Given the description of an element on the screen output the (x, y) to click on. 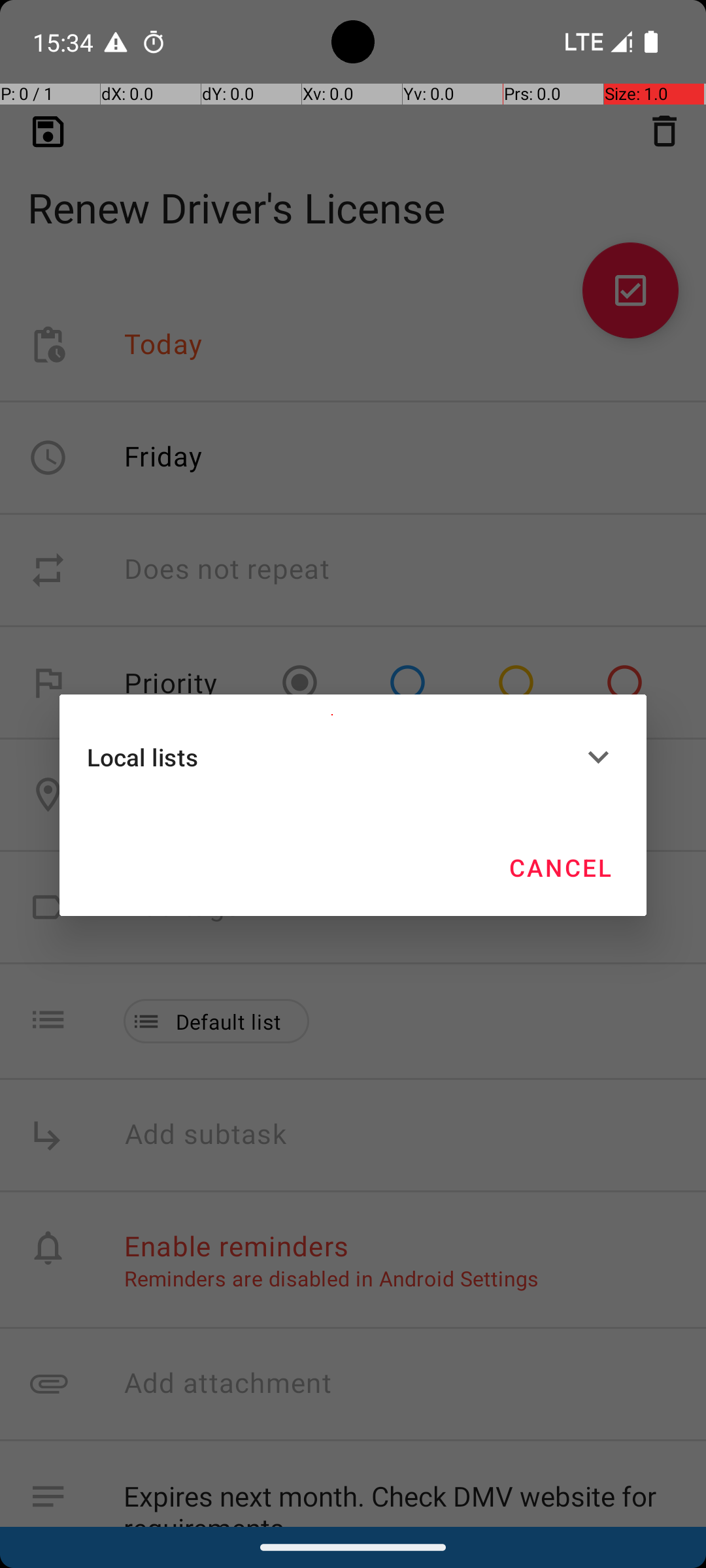
Local lists Element type: android.widget.TextView (331, 756)
